Given the description of an element on the screen output the (x, y) to click on. 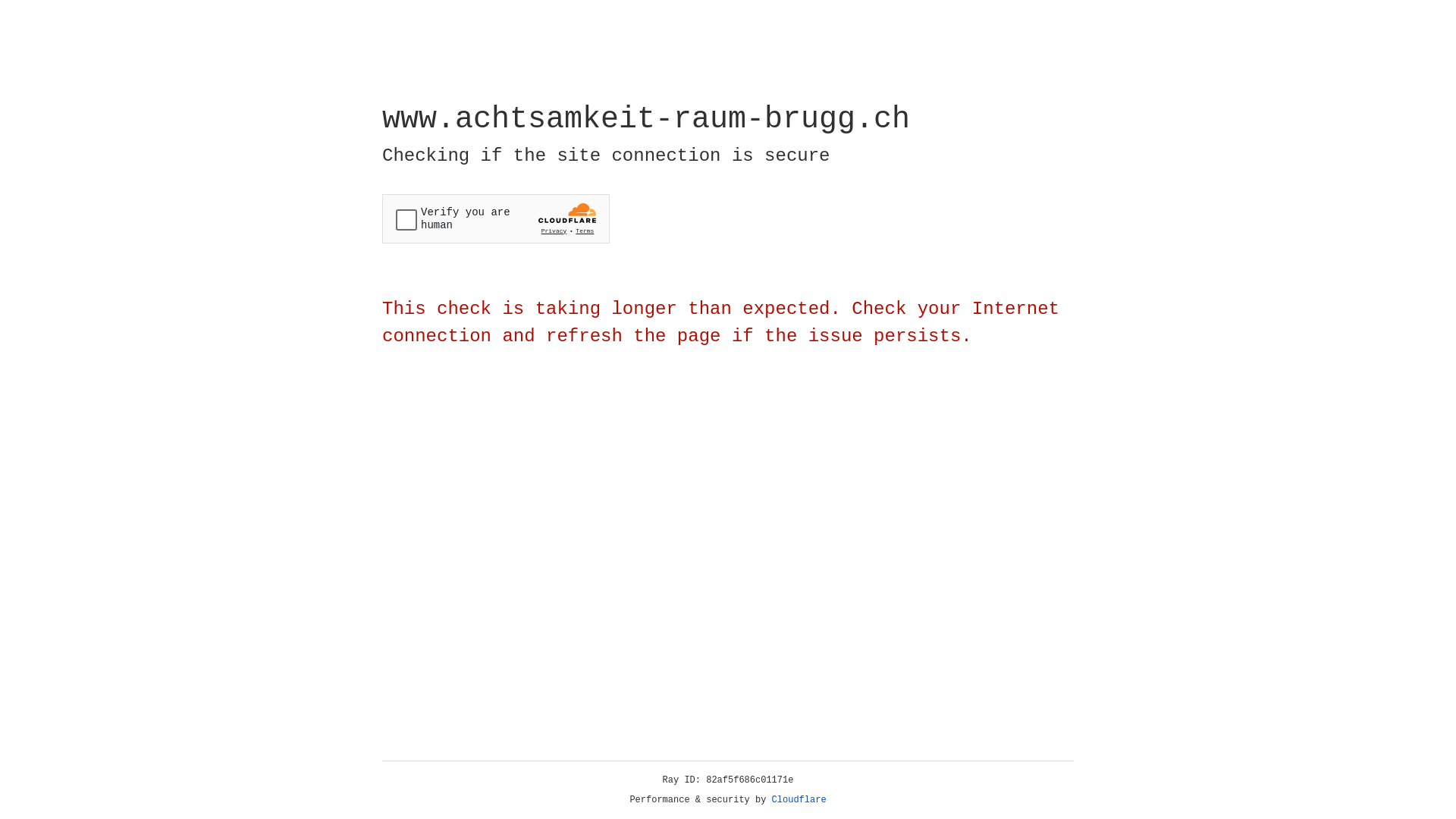
Cloudflare Element type: text (798, 799)
Widget containing a Cloudflare security challenge Element type: hover (495, 218)
